Given the description of an element on the screen output the (x, y) to click on. 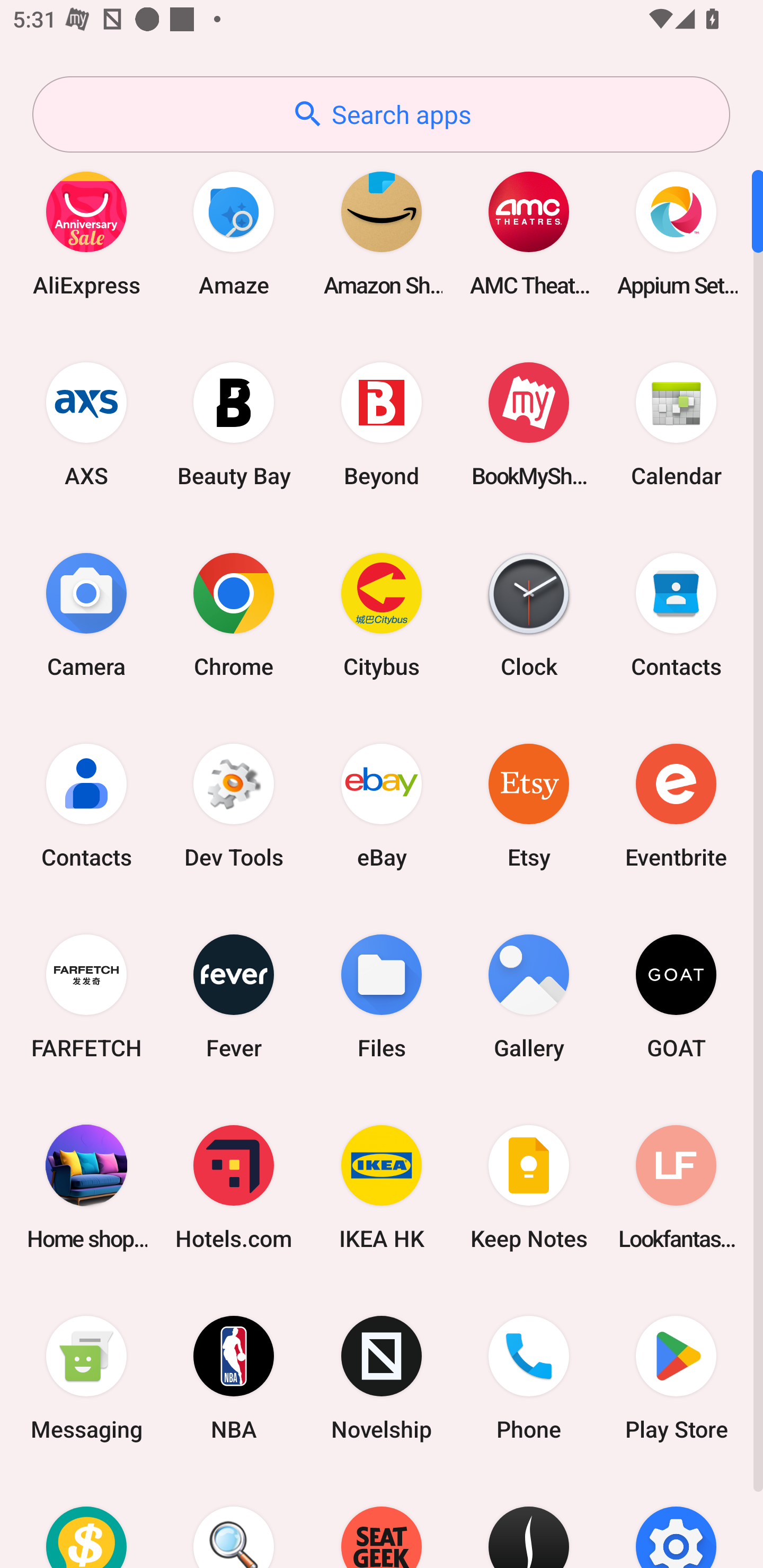
  Search apps (381, 114)
AliExpress (86, 233)
Amaze (233, 233)
Amazon Shopping (381, 233)
AMC Theatres (528, 233)
Appium Settings (676, 233)
AXS (86, 424)
Beauty Bay (233, 424)
Beyond (381, 424)
BookMyShow (528, 424)
Calendar (676, 424)
Camera (86, 614)
Chrome (233, 614)
Citybus (381, 614)
Clock (528, 614)
Contacts (676, 614)
Contacts (86, 805)
Dev Tools (233, 805)
eBay (381, 805)
Etsy (528, 805)
Eventbrite (676, 805)
FARFETCH (86, 996)
Fever (233, 996)
Files (381, 996)
Gallery (528, 996)
GOAT (676, 996)
Home shopping (86, 1186)
Hotels.com (233, 1186)
IKEA HK (381, 1186)
Keep Notes (528, 1186)
Lookfantastic (676, 1186)
Messaging (86, 1377)
NBA (233, 1377)
Novelship (381, 1377)
Phone (528, 1377)
Play Store (676, 1377)
Price (86, 1520)
Search (233, 1520)
SeatGeek (381, 1520)
Sephora (528, 1520)
Settings (676, 1520)
